Given the description of an element on the screen output the (x, y) to click on. 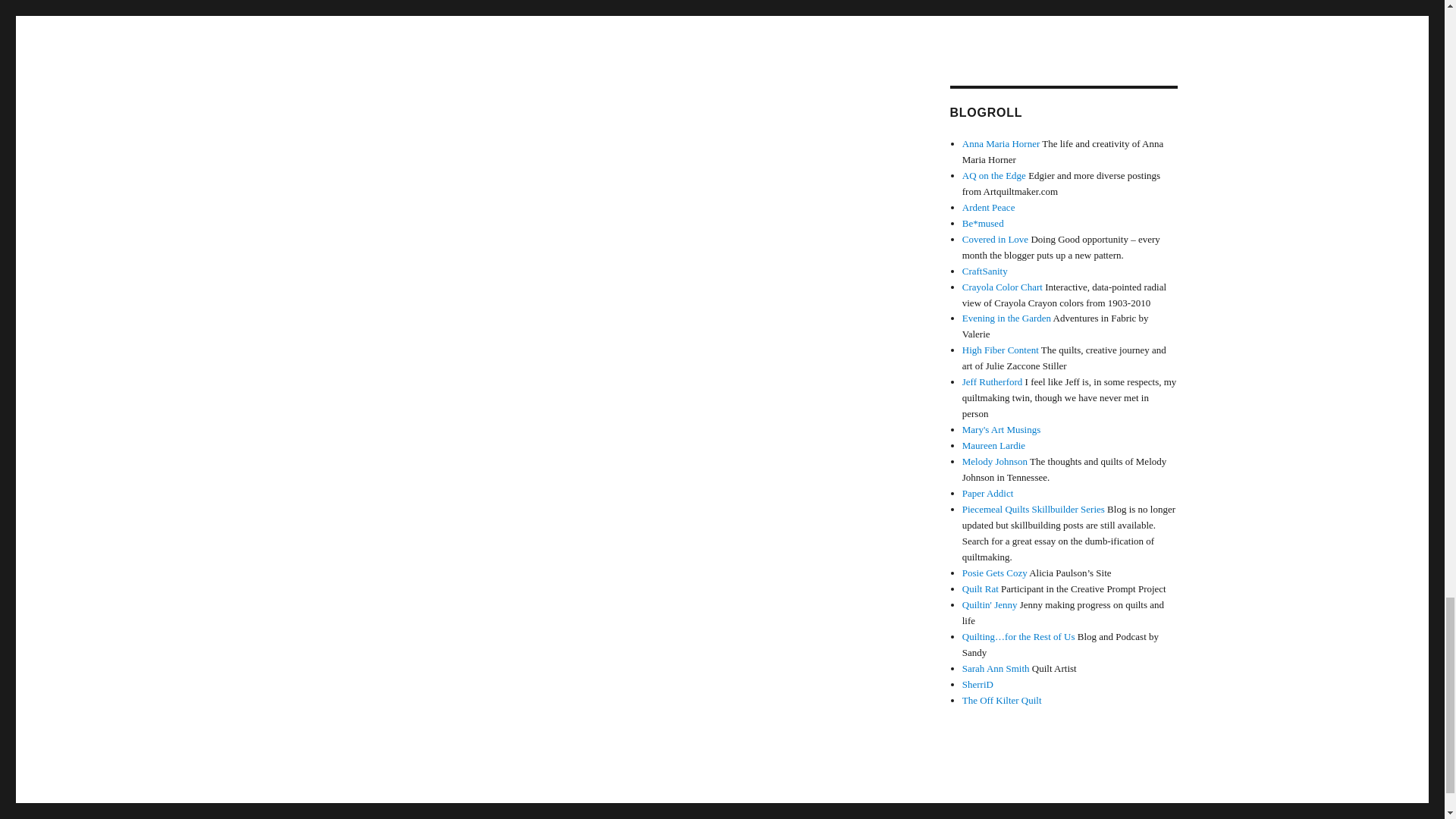
The thoughts and quilts of Melody Johnson in Tennessee. (994, 460)
Adventures in Fabric by Valerie (1006, 317)
Edgier and more diverse postings from Artquiltmaker.com (994, 174)
The life and creativity of Anna Maria Horner (1001, 143)
